Given the description of an element on the screen output the (x, y) to click on. 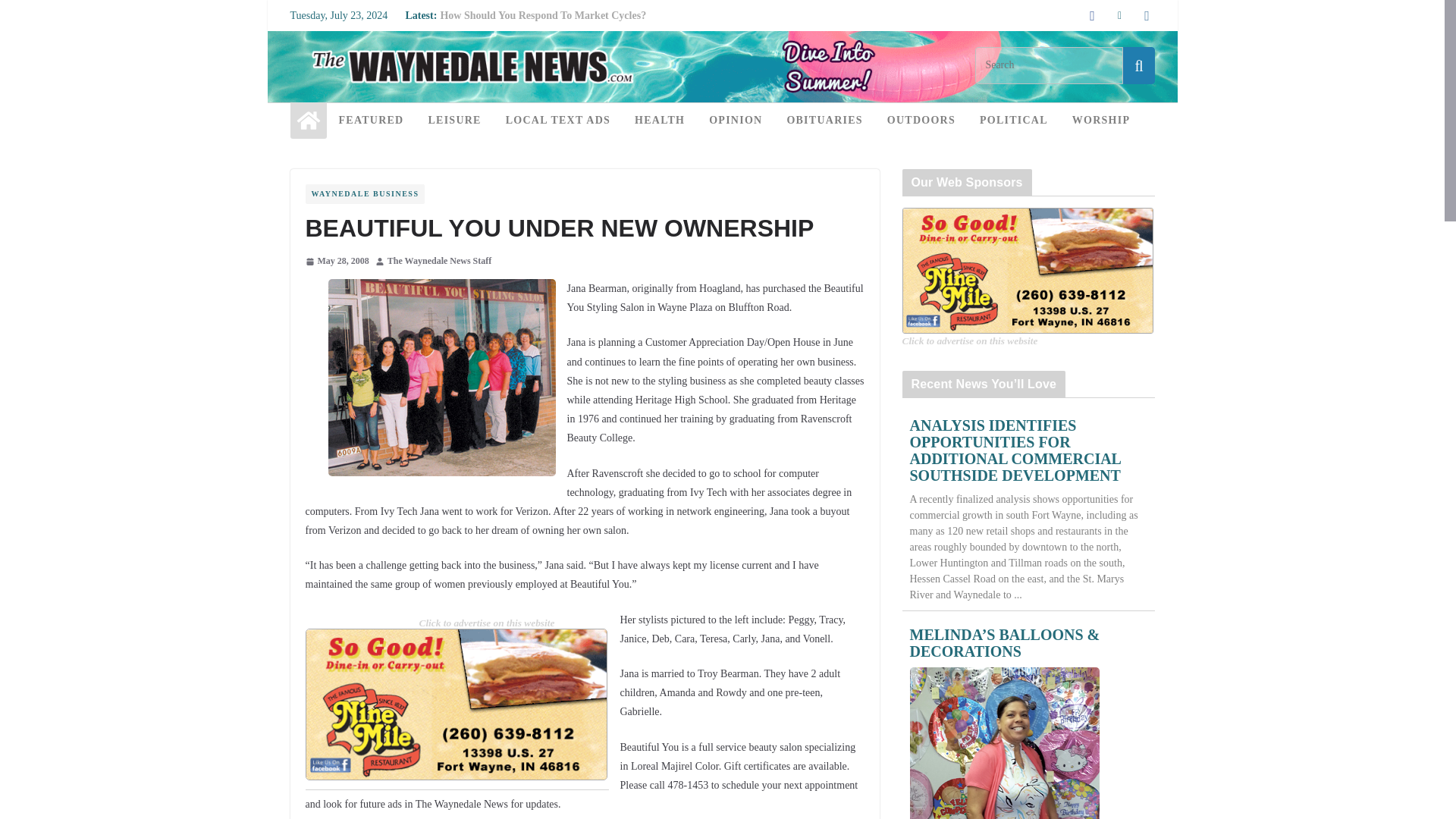
The Waynedale News (721, 41)
OPINION (735, 120)
Click to advertise on this website (486, 622)
The Waynedale News Staff (439, 261)
OBITUARIES (823, 120)
5:00 am (336, 261)
May 28, 2008 (336, 261)
How Should You Respond To Market Cycles? (542, 15)
WAYNEDALE BUSINESS (364, 193)
WORSHIP (1100, 120)
LOCAL TEXT ADS (557, 120)
FEATURED (370, 120)
LEISURE (454, 120)
OUTDOORS (920, 120)
How Should You Respond To Market Cycles? (542, 15)
